Given the description of an element on the screen output the (x, y) to click on. 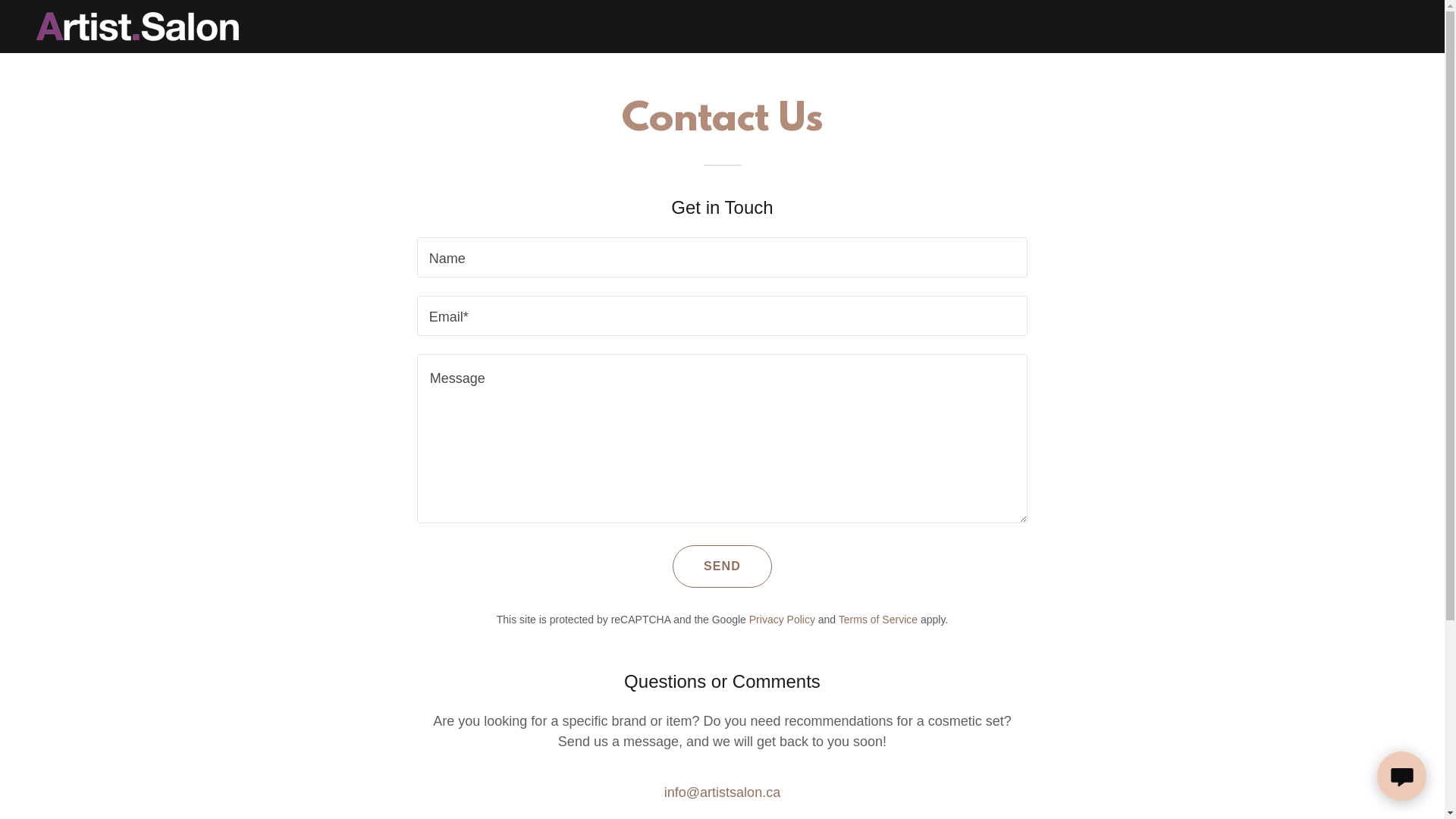
SEND Element type: text (721, 566)
Artist Salon Element type: hover (137, 25)
Terms of Service Element type: text (877, 619)
info@artistsalon.ca Element type: text (722, 792)
Privacy Policy Element type: text (782, 619)
